Given the description of an element on the screen output the (x, y) to click on. 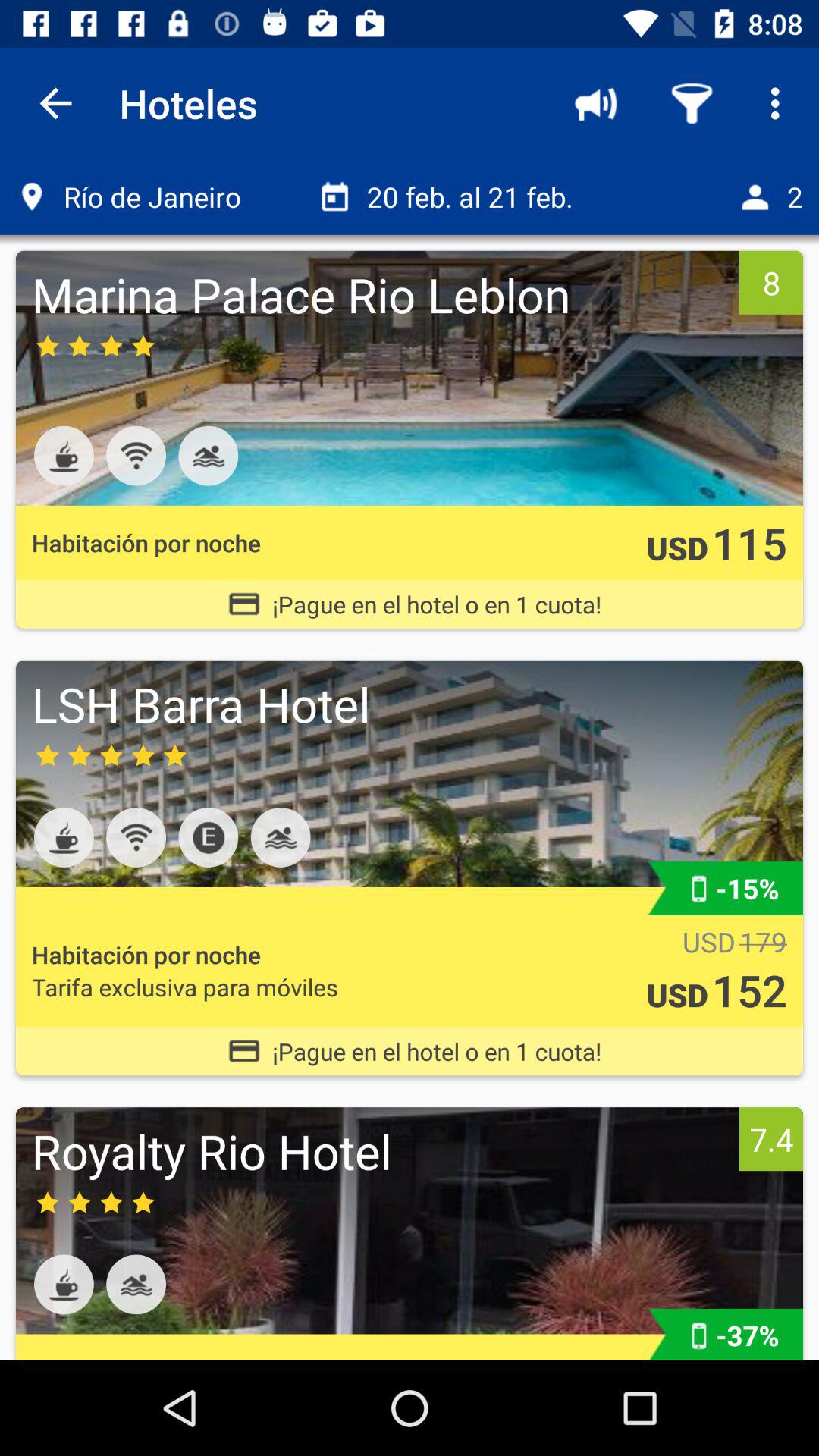
tap item next to hoteles app (595, 103)
